Given the description of an element on the screen output the (x, y) to click on. 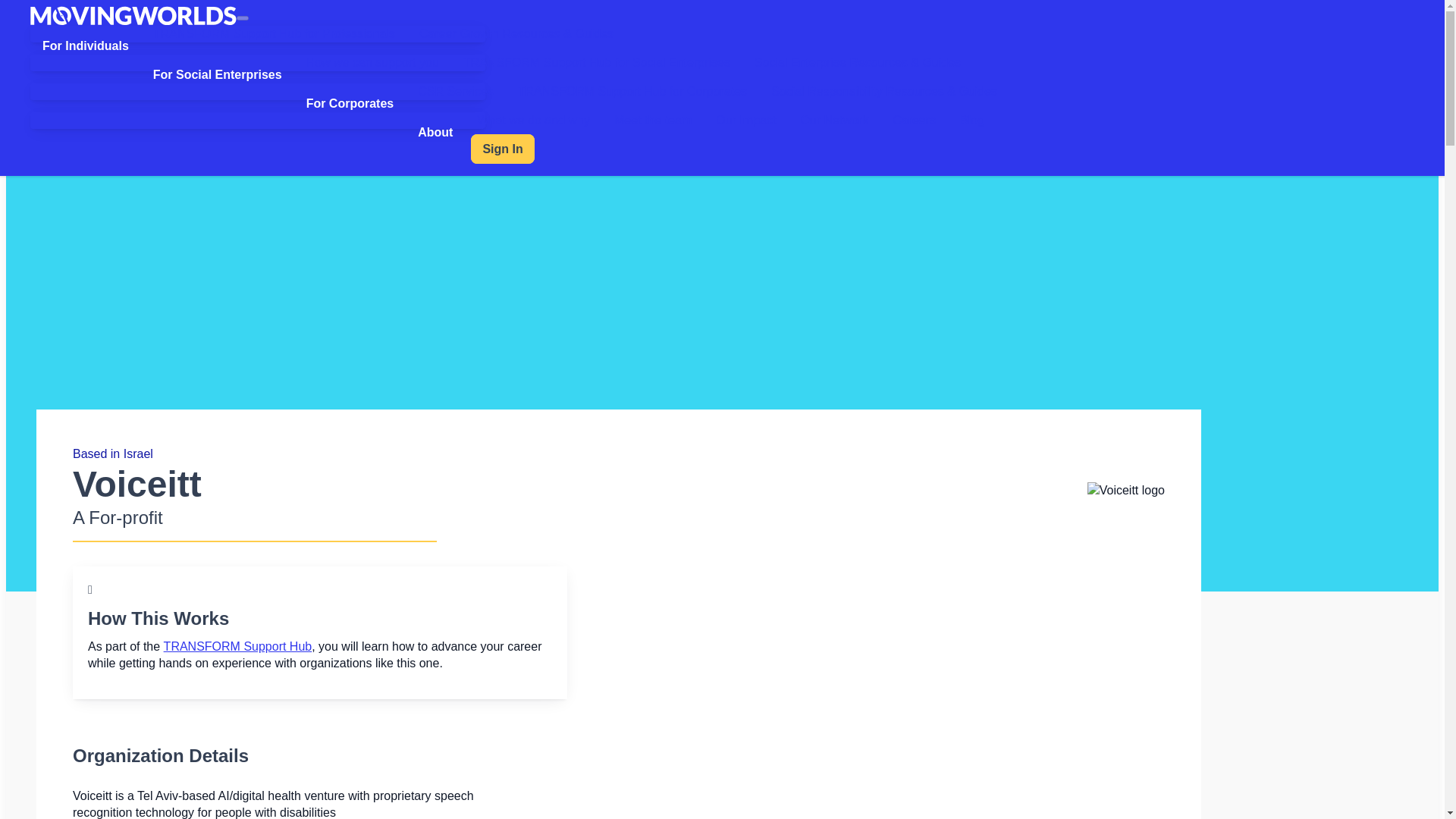
How we can support you (372, 62)
Blog (971, 119)
MovingWorlds Logo (132, 15)
What we do and why (533, 119)
TRANSFORM Support Hub for Professionals (274, 33)
About (435, 132)
For Corporates (350, 103)
Sign In (502, 148)
For Individuals (85, 45)
CSR Services (455, 91)
TRANSFORM Support Hub (238, 645)
For Social Enterprises (217, 74)
Meet the team (652, 119)
Our Network (833, 119)
Our Impact (745, 119)
